Given the description of an element on the screen output the (x, y) to click on. 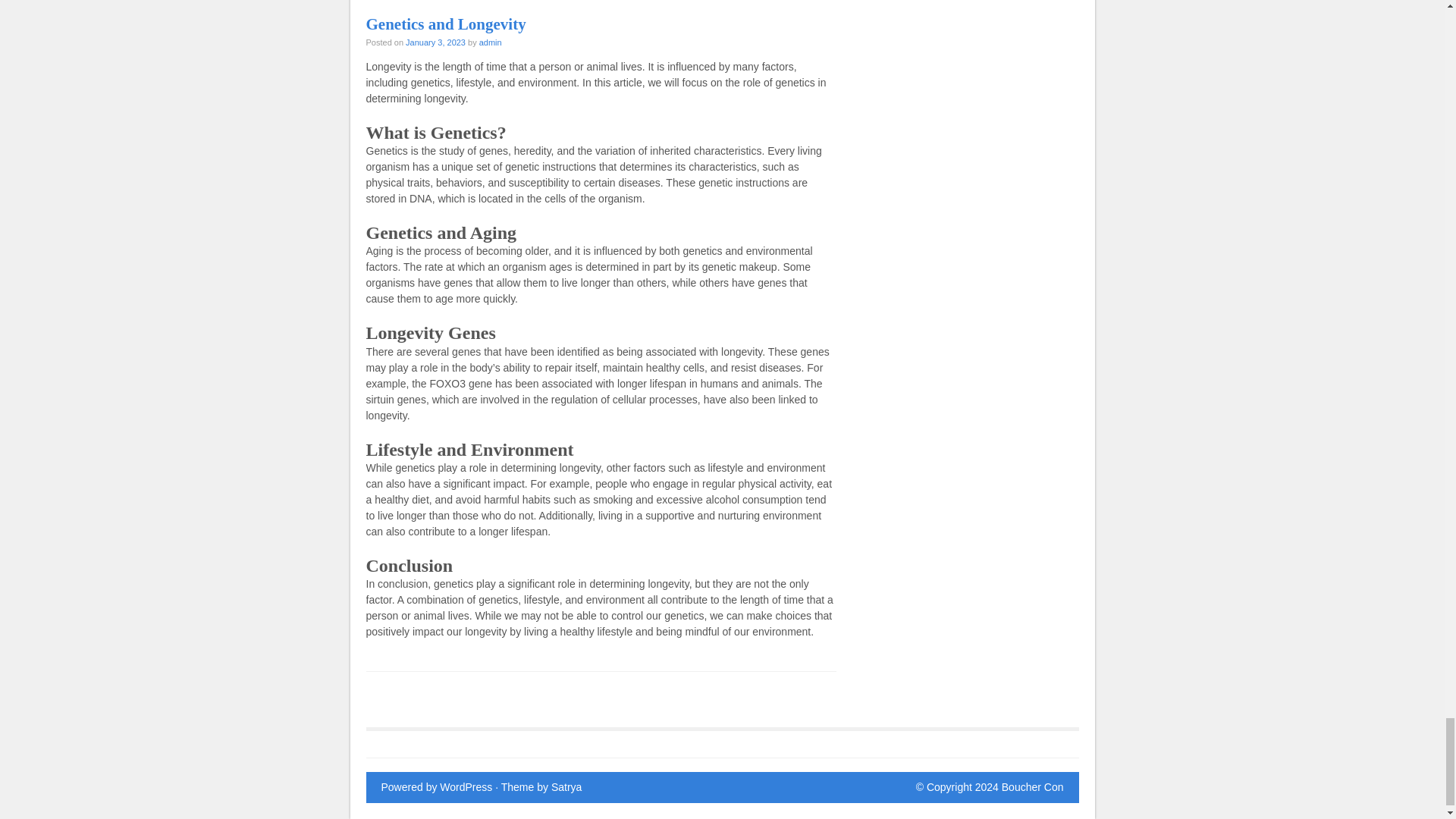
Boucher Con (1032, 787)
Genetics and Longevity (445, 24)
admin (490, 41)
Satrya (565, 787)
January 3, 2023 (435, 41)
Powered by WordPress (436, 787)
